Given the description of an element on the screen output the (x, y) to click on. 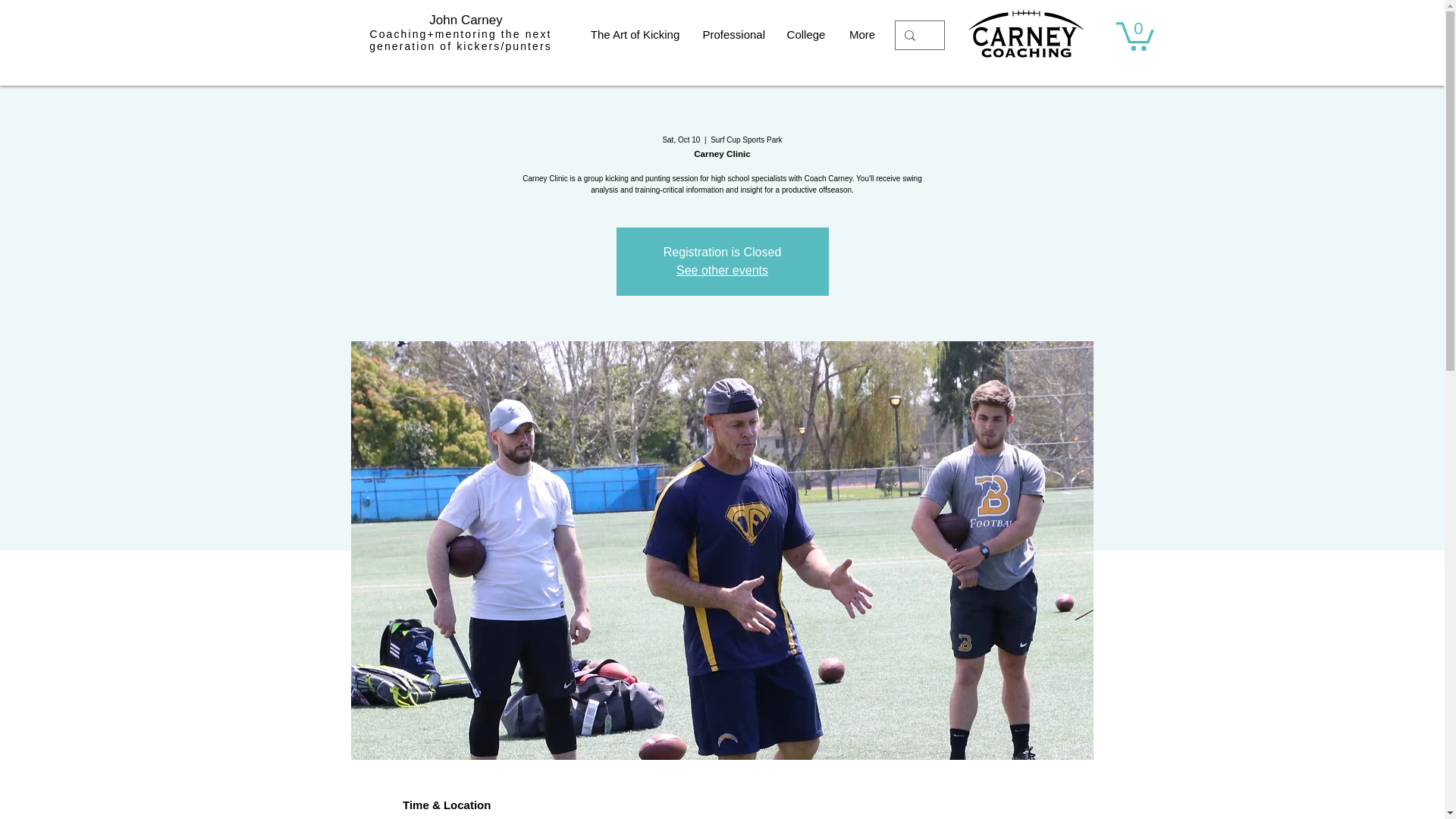
0 (1135, 34)
Professional (732, 34)
College (806, 34)
John Carney (465, 20)
The Art of Kicking (635, 34)
See other events (722, 269)
0 (1135, 34)
